Given the description of an element on the screen output the (x, y) to click on. 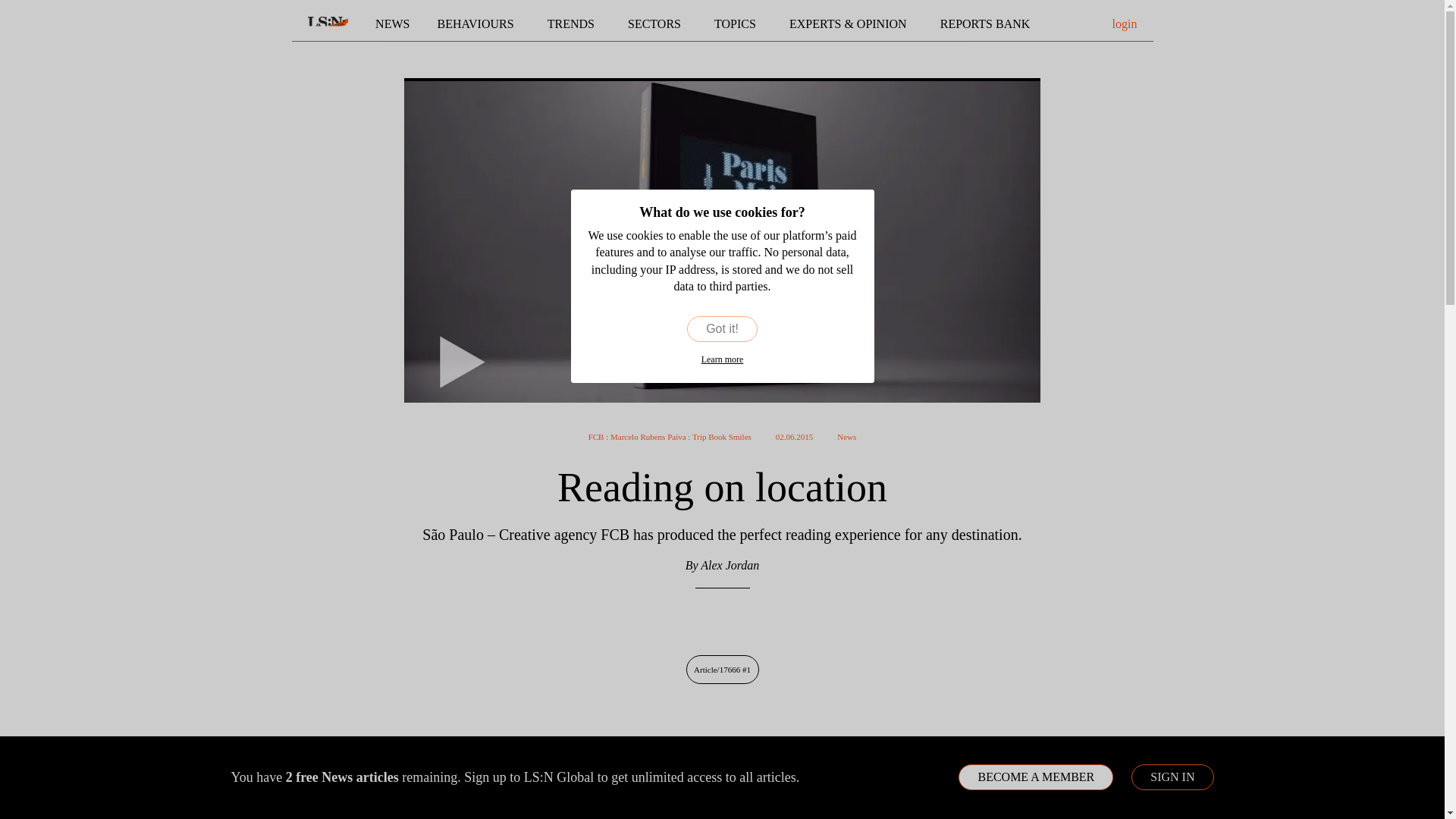
News (392, 24)
Behaviours (478, 24)
LS:N Global (327, 24)
BEHAVIOURS (478, 24)
Trends (573, 24)
TRENDS (573, 24)
NEWS (392, 24)
